Given the description of an element on the screen output the (x, y) to click on. 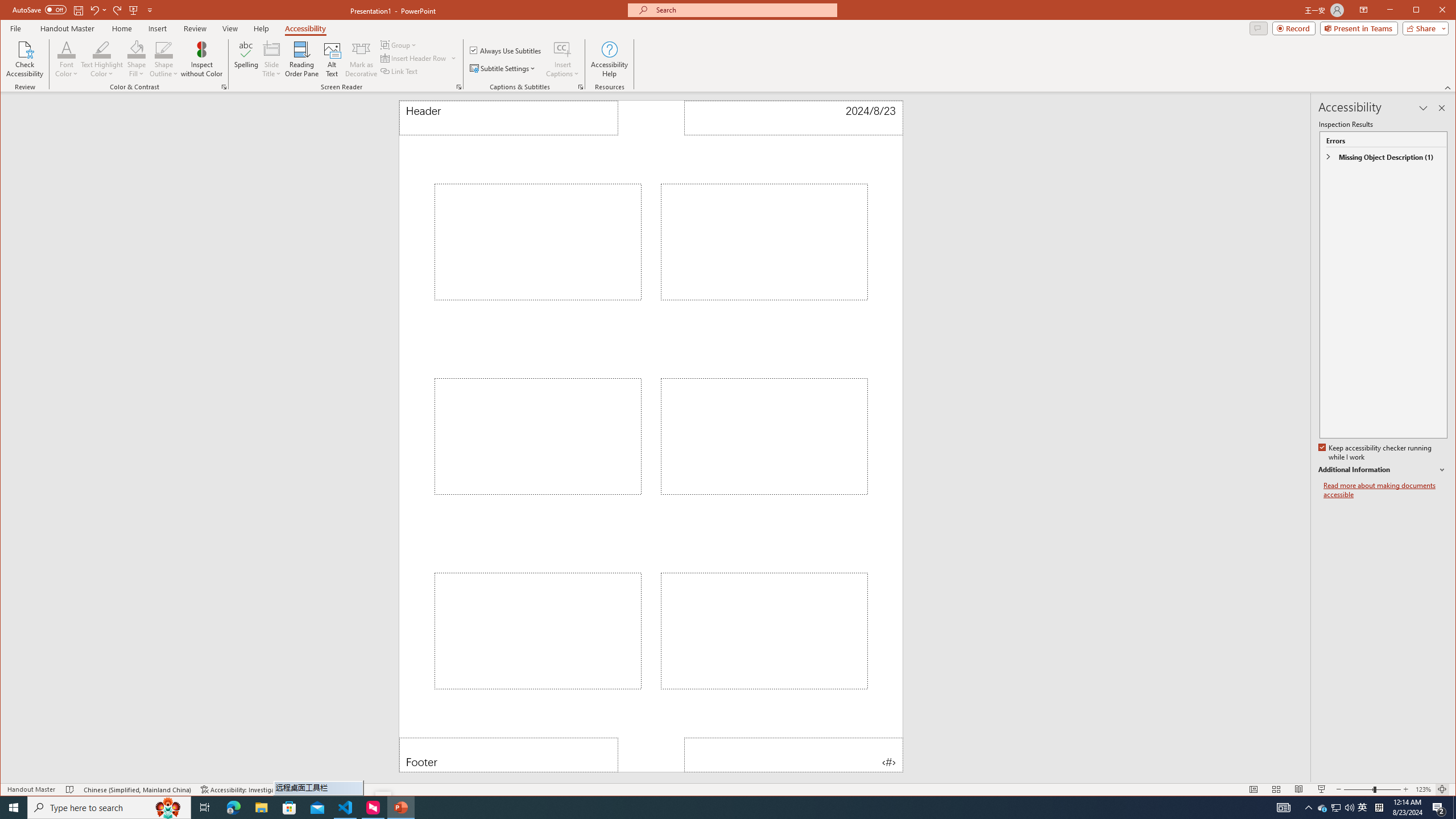
Captions & Subtitles (580, 86)
Date (793, 117)
Zoom 123% (1422, 789)
Link Text (399, 70)
